Given the description of an element on the screen output the (x, y) to click on. 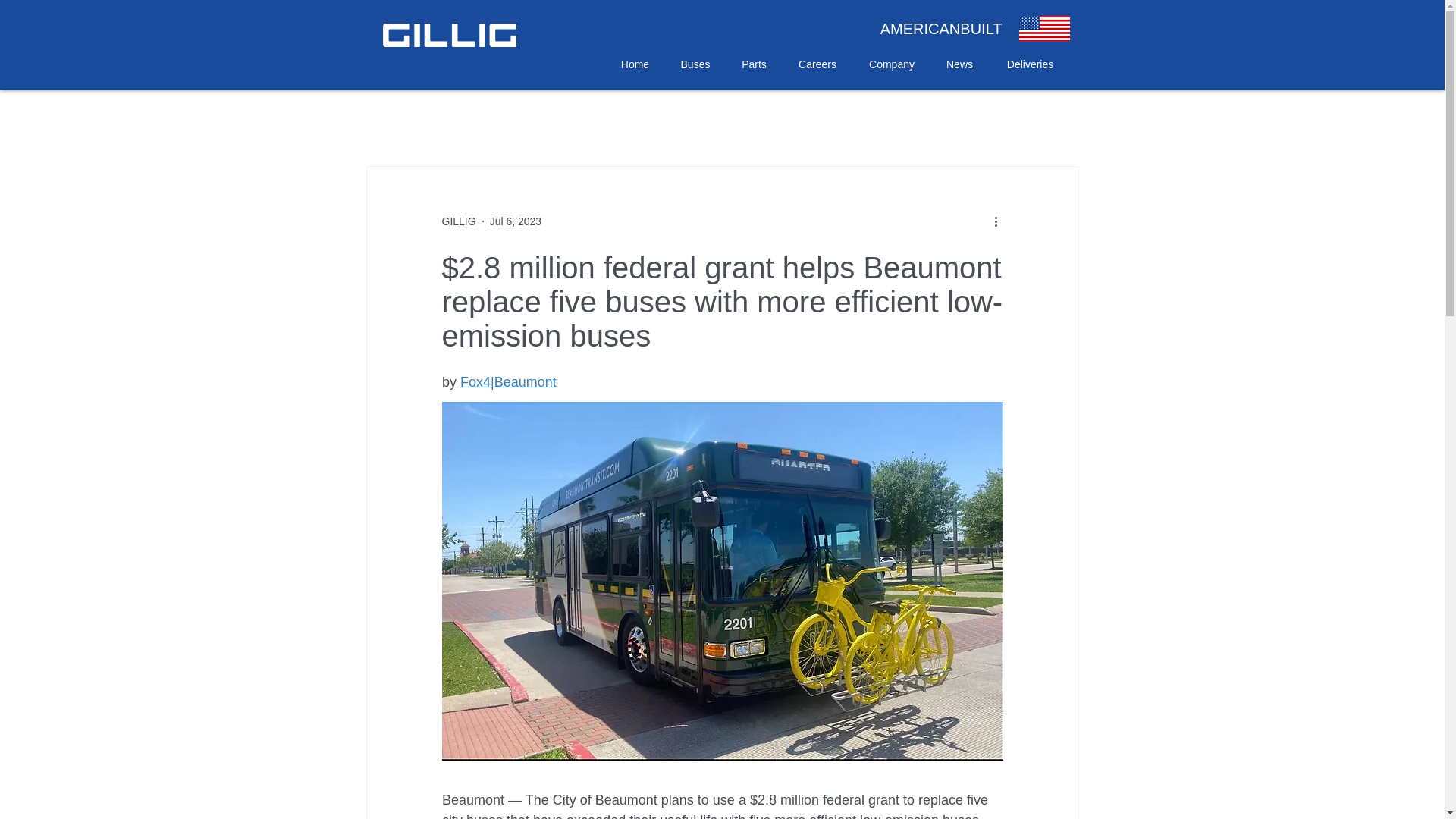
Home (634, 64)
Parts (754, 64)
Jul 6, 2023 (515, 221)
Deliveries (1029, 64)
GILLIG (458, 221)
GILLIG (458, 221)
Company (890, 64)
News (959, 64)
Careers (818, 64)
Buses (694, 64)
